Given the description of an element on the screen output the (x, y) to click on. 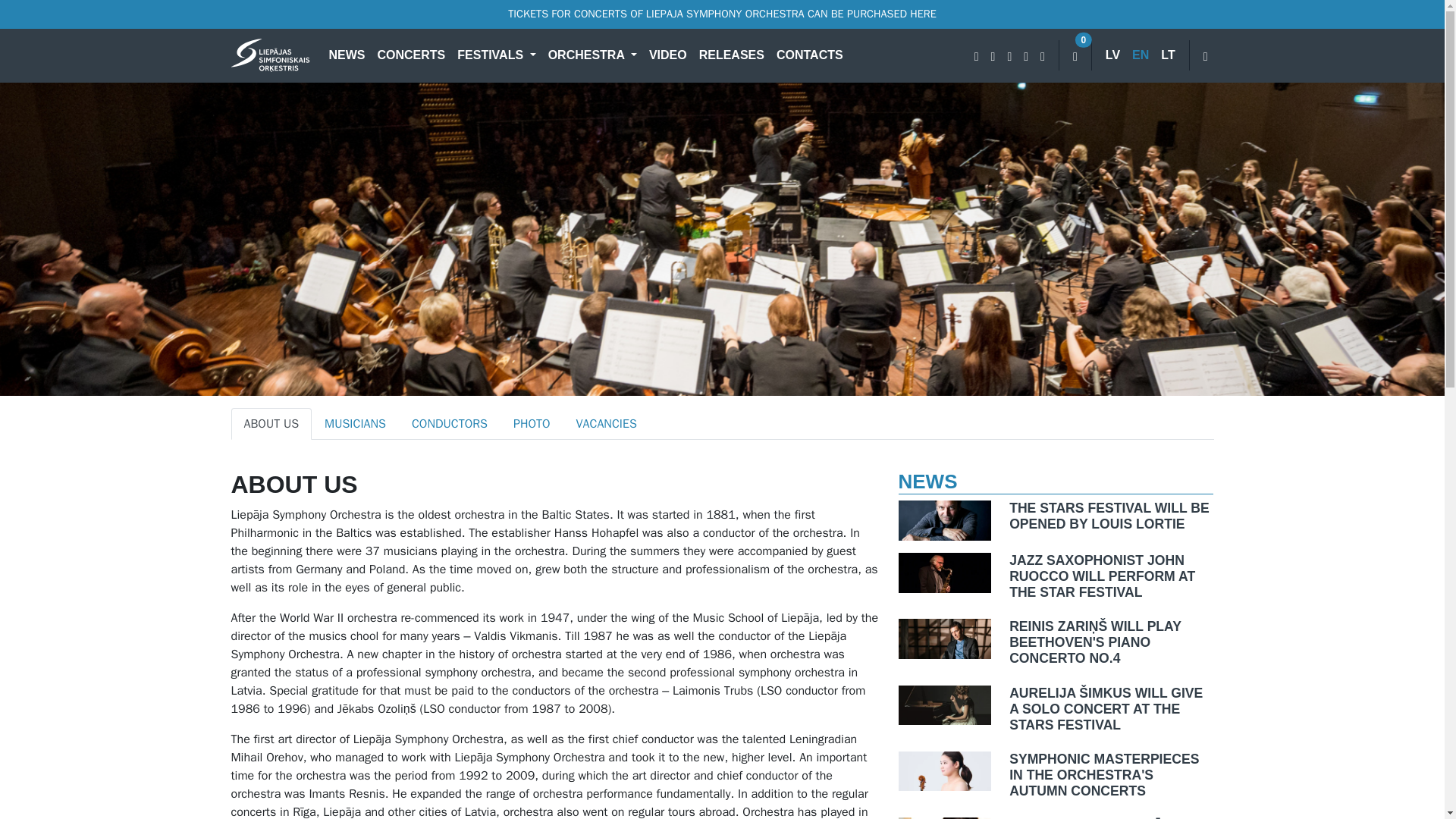
NEWS (347, 55)
EN (1139, 55)
The Stars Festival will be opened by Louis Lortie (1110, 516)
ORCHESTRA (592, 55)
VIDEO (668, 55)
Symphonic masterpieces in the Orchestra's autumn concerts (1110, 775)
CONCERTS (411, 55)
FESTIVALS (496, 55)
CONTACTS (809, 55)
The Stars Festival will be opened by Louis Lortie (944, 519)
RELEASES (731, 55)
Symphonic masterpieces in the Orchestra's autumn concerts (944, 770)
